Given the description of an element on the screen output the (x, y) to click on. 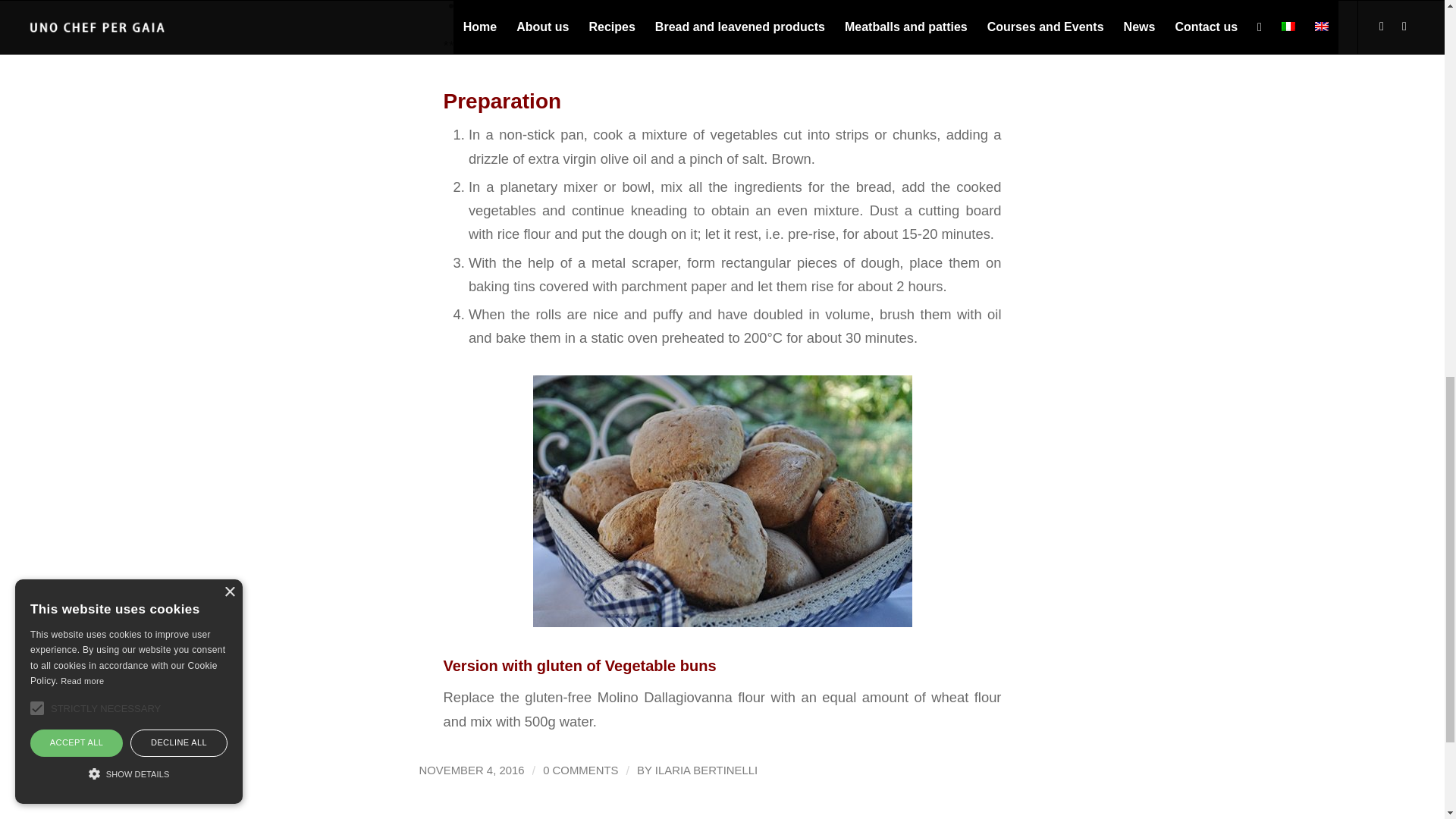
ILARIA BERTINELLI (706, 770)
0 COMMENTS (580, 770)
Posts by Ilaria Bertinelli (706, 770)
